Given the description of an element on the screen output the (x, y) to click on. 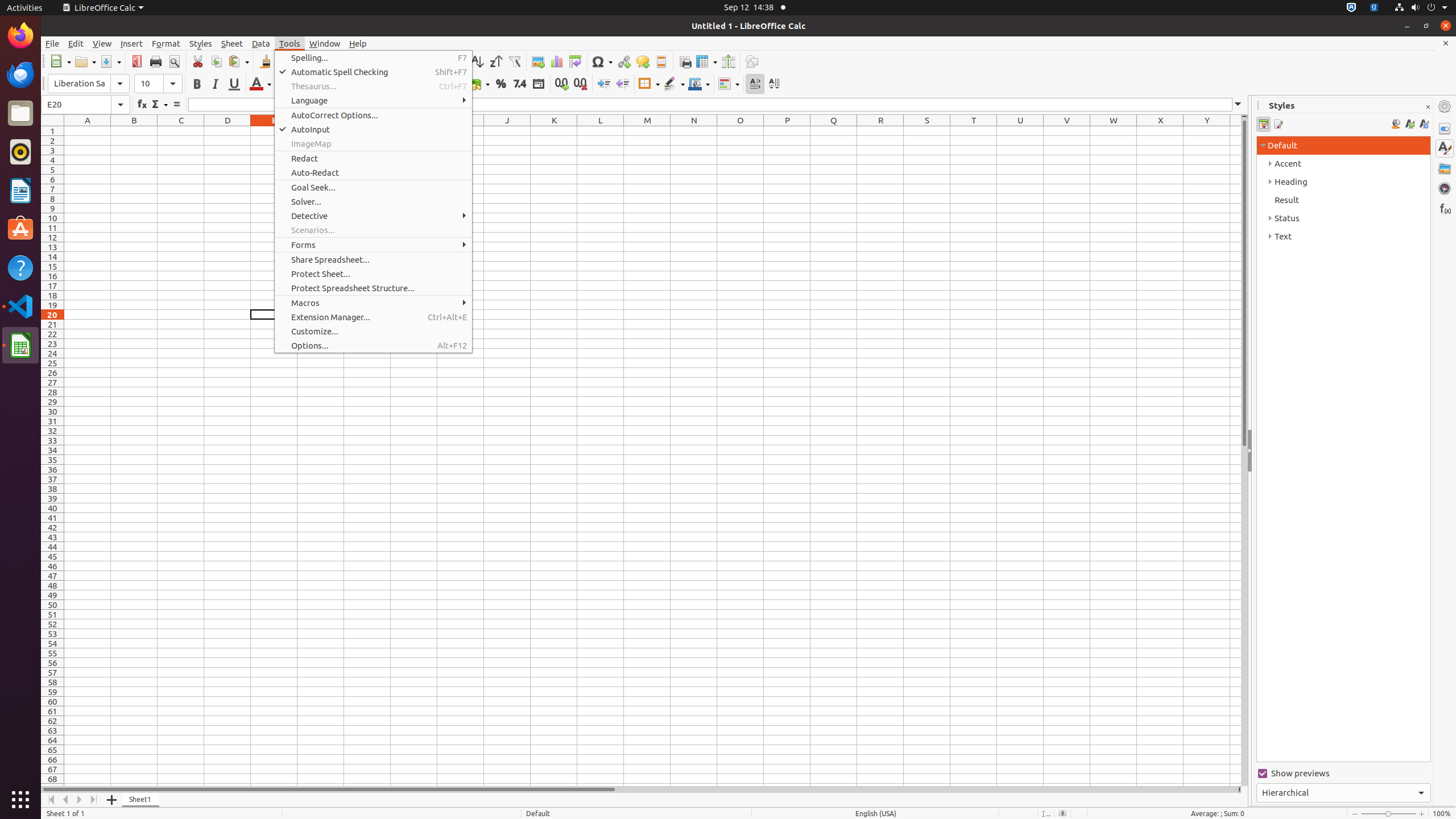
Auto-Redact Element type: menu-item (373, 172)
Symbol Element type: push-button (601, 61)
Update Style Element type: push-button (1423, 123)
Headers and Footers Element type: push-button (660, 61)
Text direction from top to bottom Element type: toggle-button (773, 83)
